Given the description of an element on the screen output the (x, y) to click on. 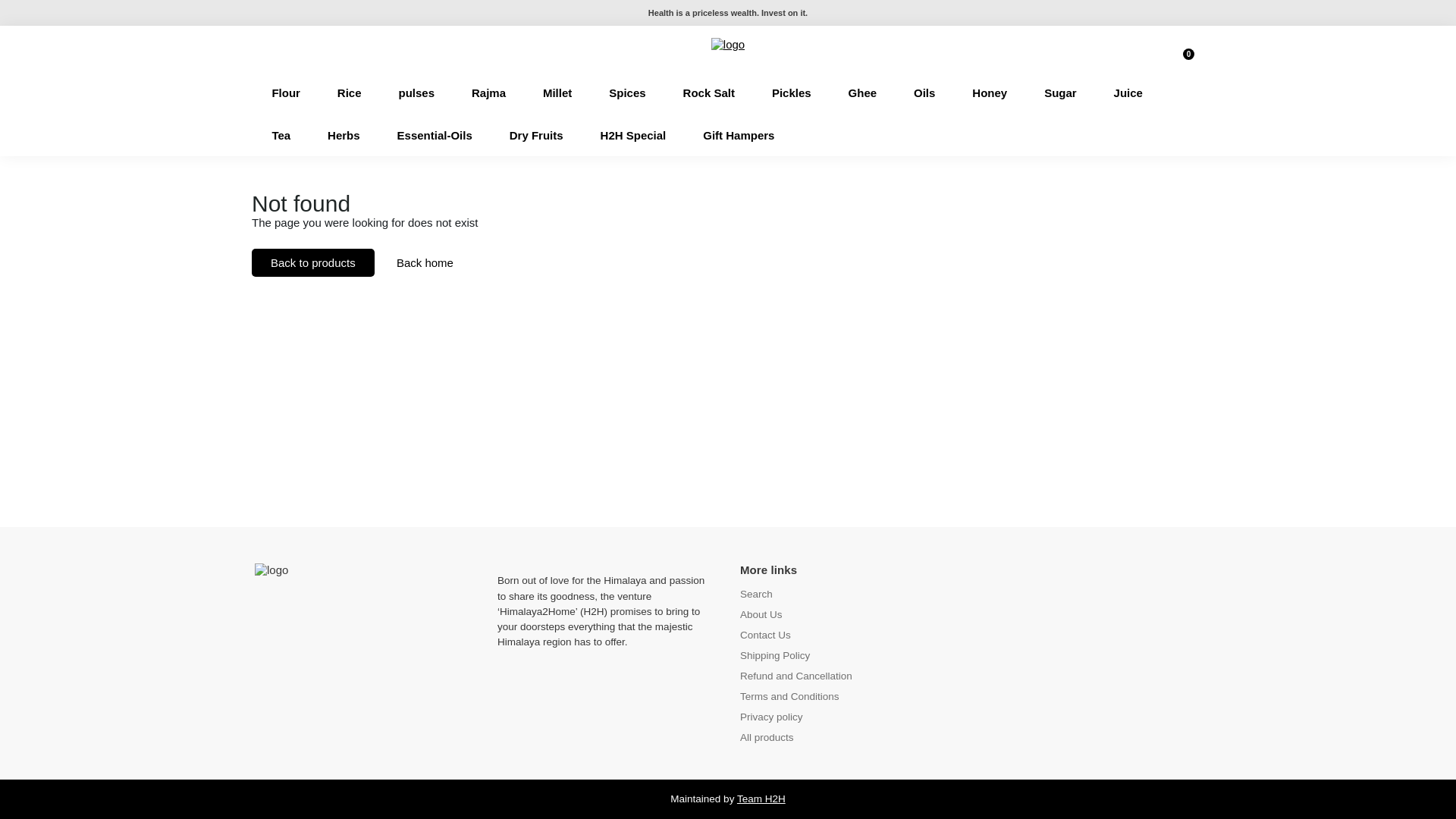
Rice (349, 92)
Ghee (861, 92)
Herbs (344, 134)
Rajma (489, 92)
Tea (280, 134)
Spices (627, 92)
H2H Special (633, 134)
Flour (285, 92)
Rock Salt (708, 92)
Millet (556, 92)
Juice (1128, 92)
Sugar (1059, 92)
Gift Hampers (738, 134)
pulses (415, 92)
Honey (989, 92)
